Given the description of an element on the screen output the (x, y) to click on. 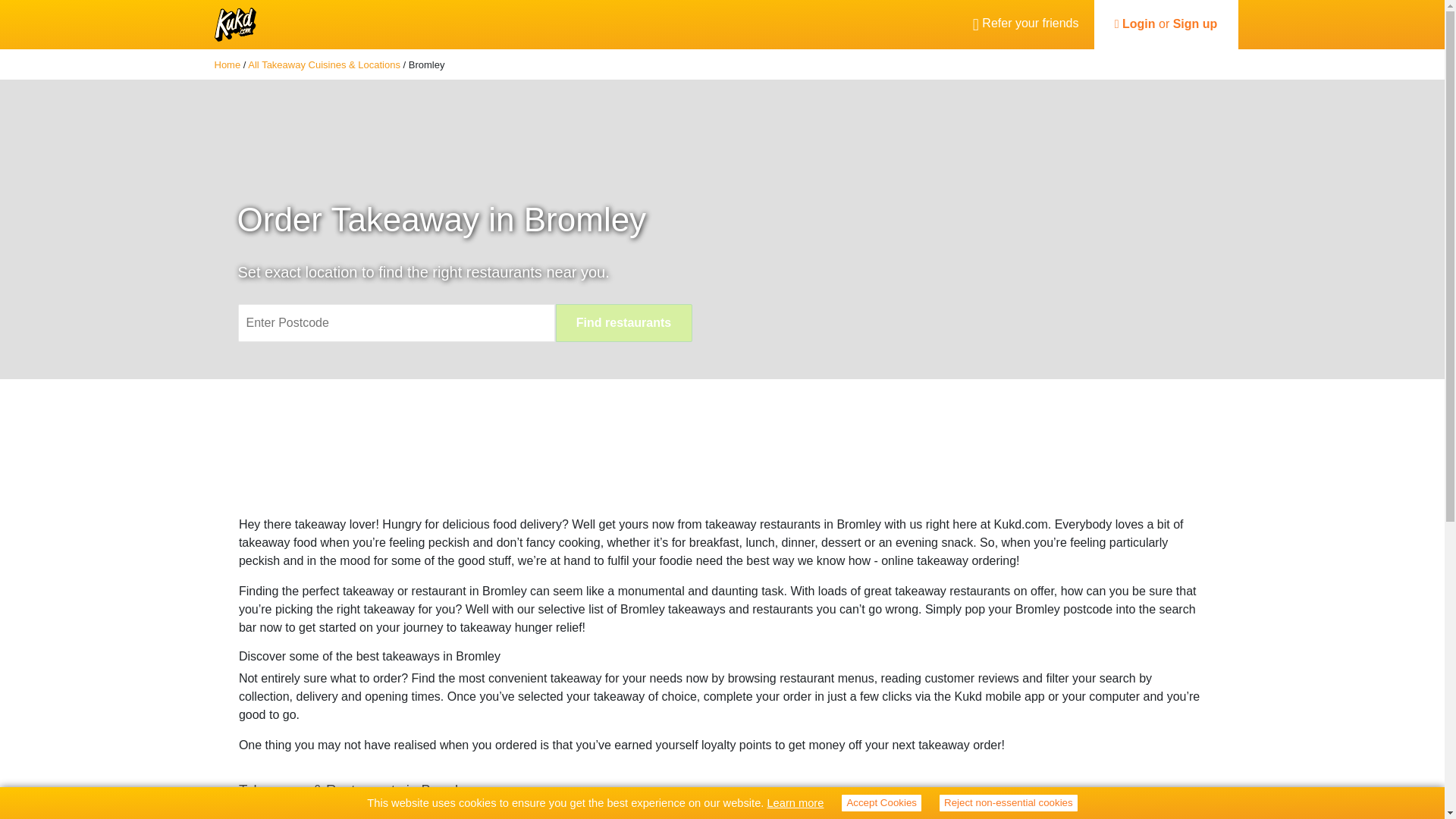
Login (1139, 23)
Refer your friends (1025, 24)
Sign up (1195, 23)
Home (227, 64)
Suruchi (271, 818)
Find restaurants (622, 322)
